Given the description of an element on the screen output the (x, y) to click on. 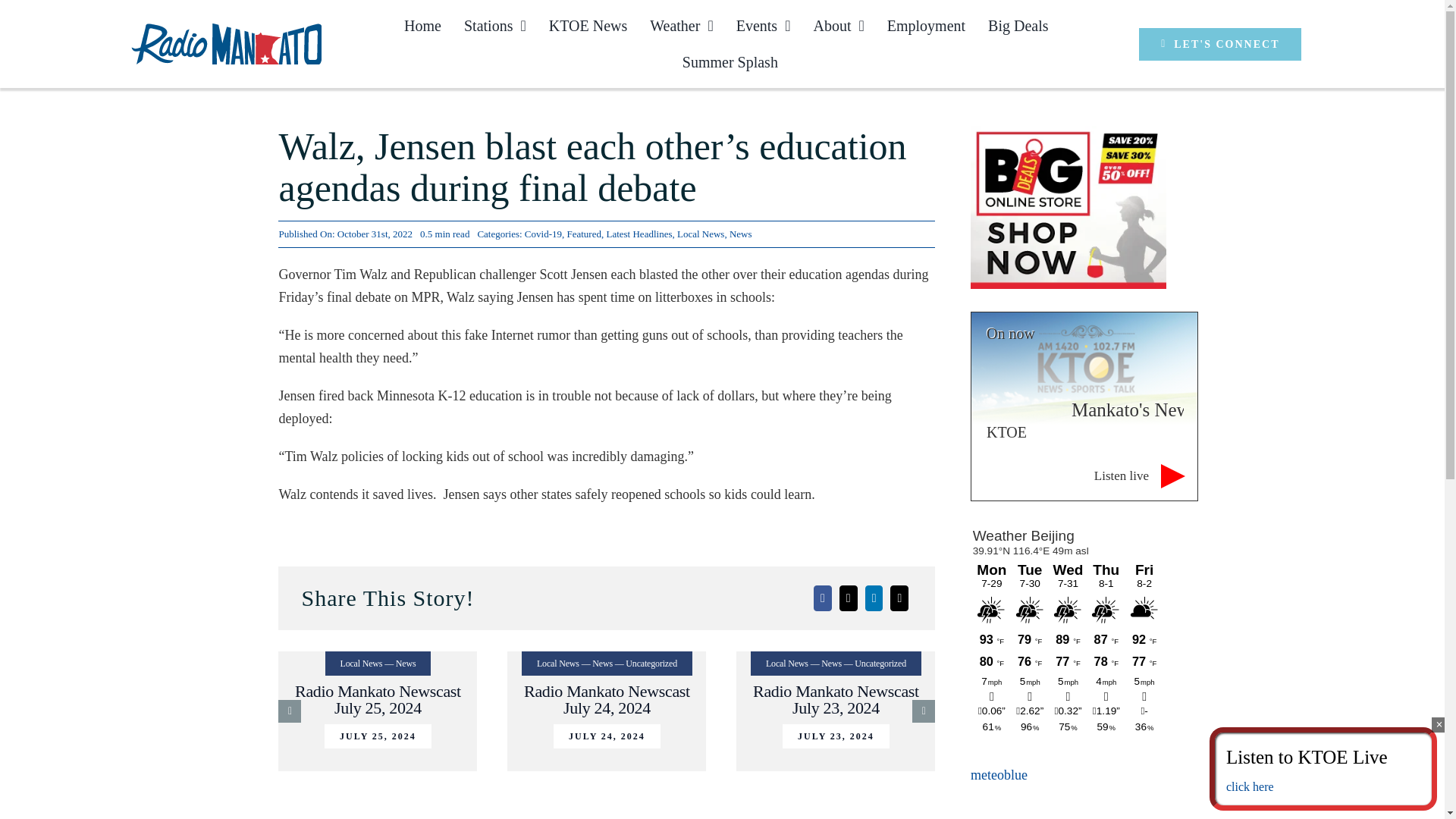
Featured (582, 233)
Latest Headlines (638, 233)
News (740, 233)
Employment (925, 25)
KTOE News (587, 25)
LET'S CONNECT (1219, 43)
Summer Splash (730, 62)
Home (422, 25)
Stations (495, 25)
Local News (700, 233)
Covid-19 (543, 233)
Big Deals (1017, 25)
Events (763, 25)
Weather (681, 25)
About (837, 25)
